Given the description of an element on the screen output the (x, y) to click on. 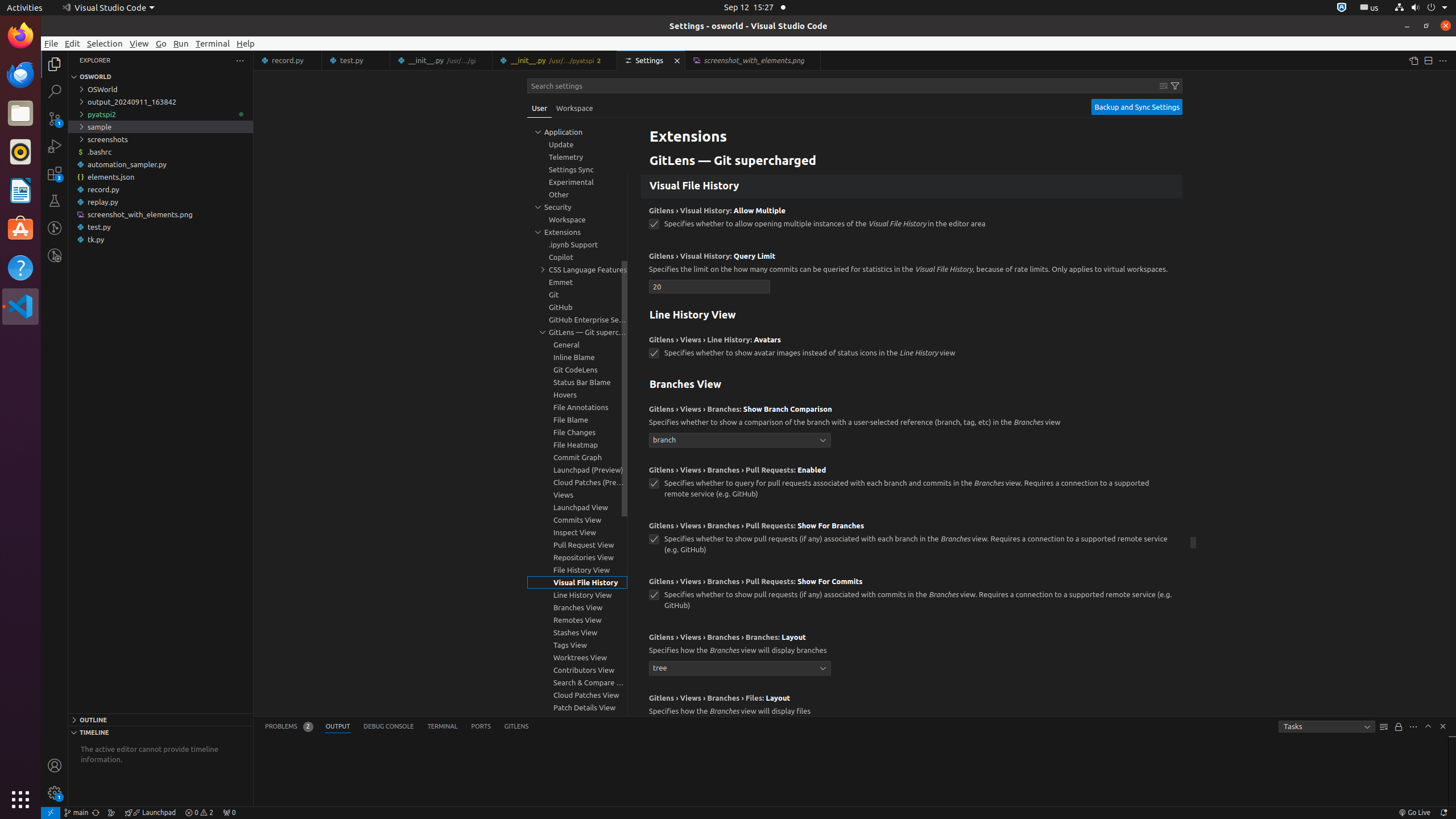
CSS Language Features, group Element type: tree-item (577, 269)
gitlens.visualHistory.allowMultiple Element type: check-box (653, 223)
Branches View Element type: tree-item (911, 384)
Tasks Element type: menu-item (1326, 726)
